Given the description of an element on the screen output the (x, y) to click on. 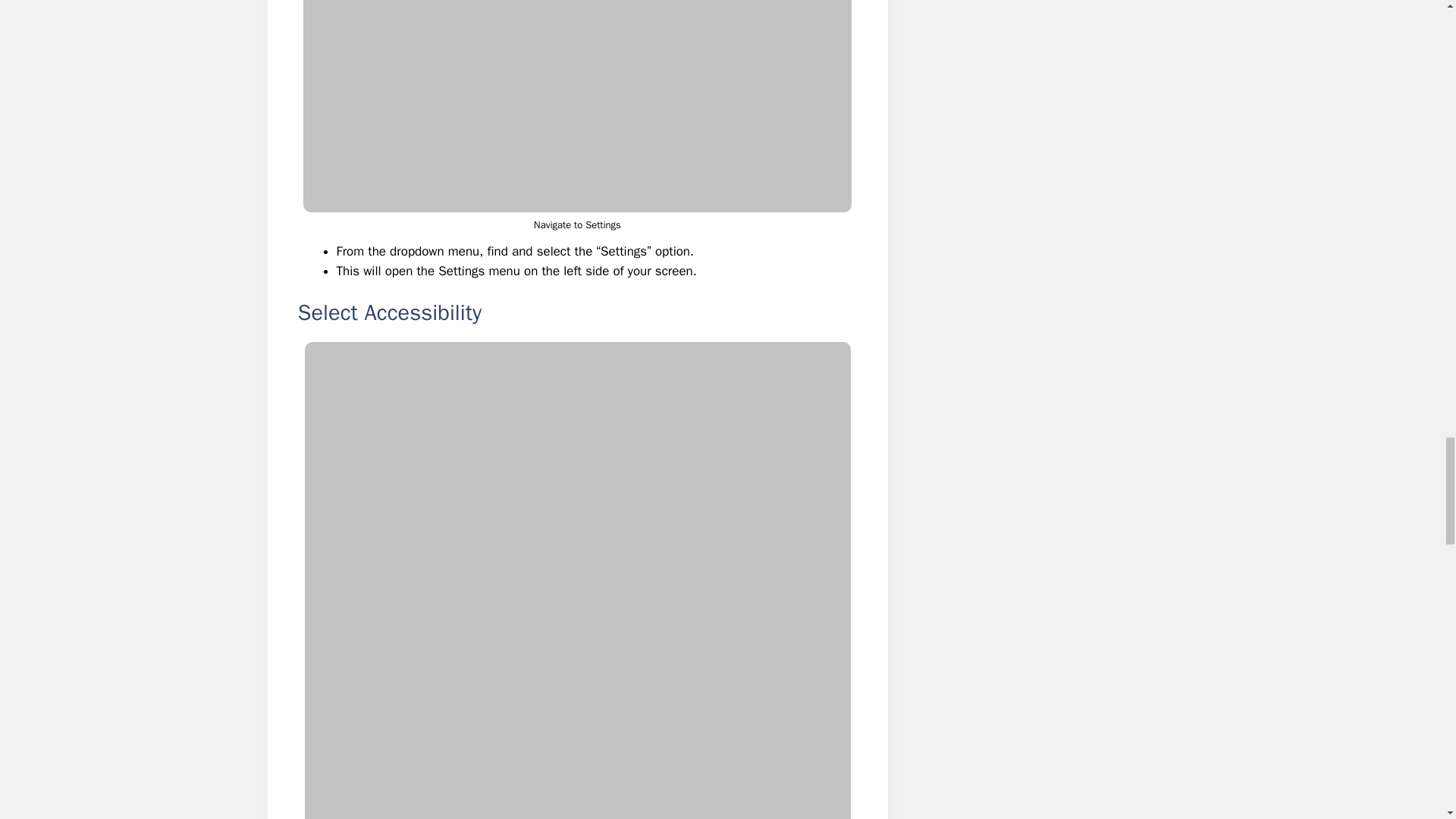
How to Enable "Ask Before Closing All Tabs" 4 (576, 106)
